Given the description of an element on the screen output the (x, y) to click on. 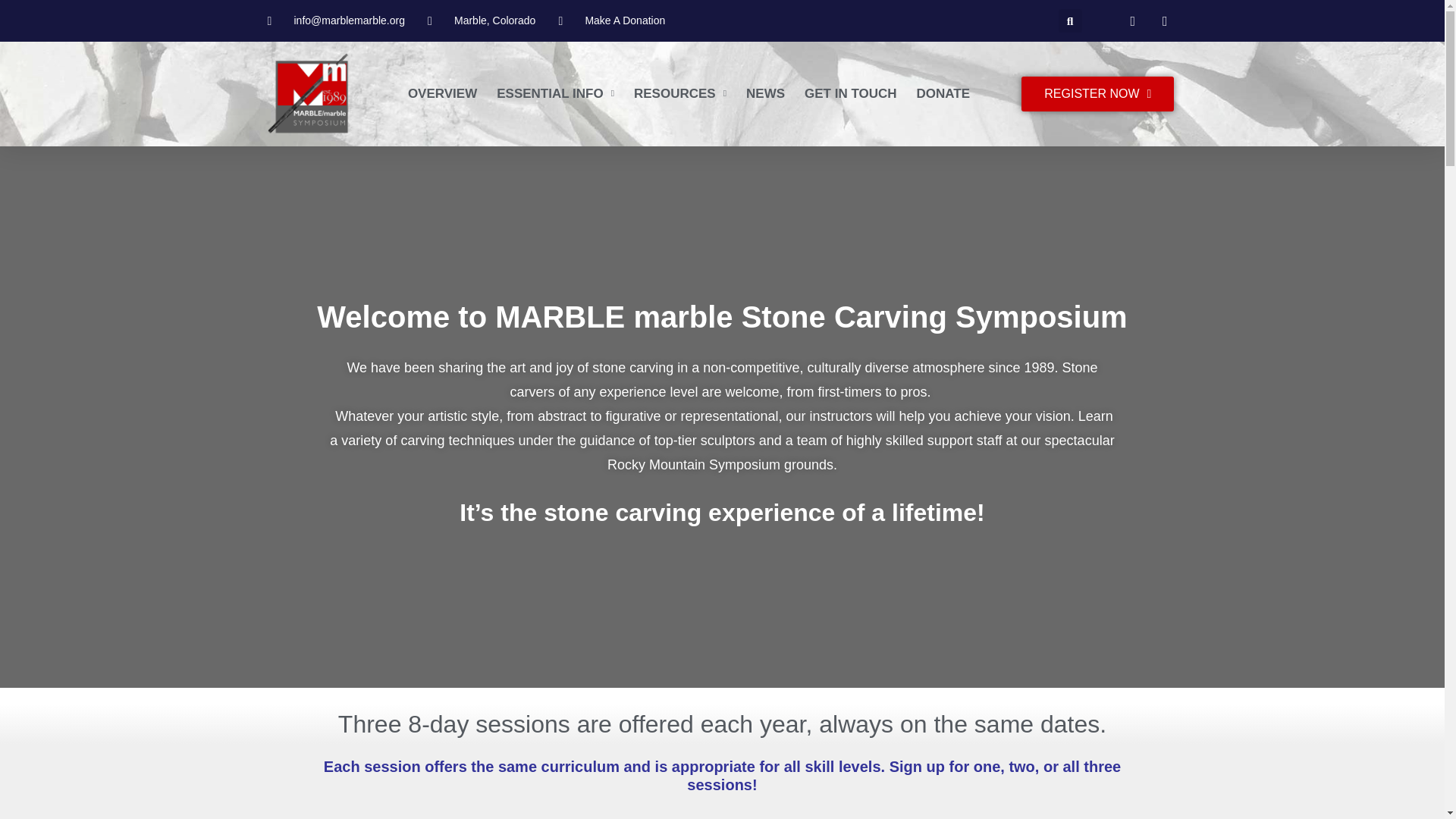
DONATE (944, 93)
GET IN TOUCH (850, 93)
OVERVIEW (442, 93)
ESSENTIAL INFO (555, 93)
REGISTER NOW (1097, 93)
NEWS (764, 93)
RESOURCES (679, 93)
Make A Donation (611, 20)
